Given the description of an element on the screen output the (x, y) to click on. 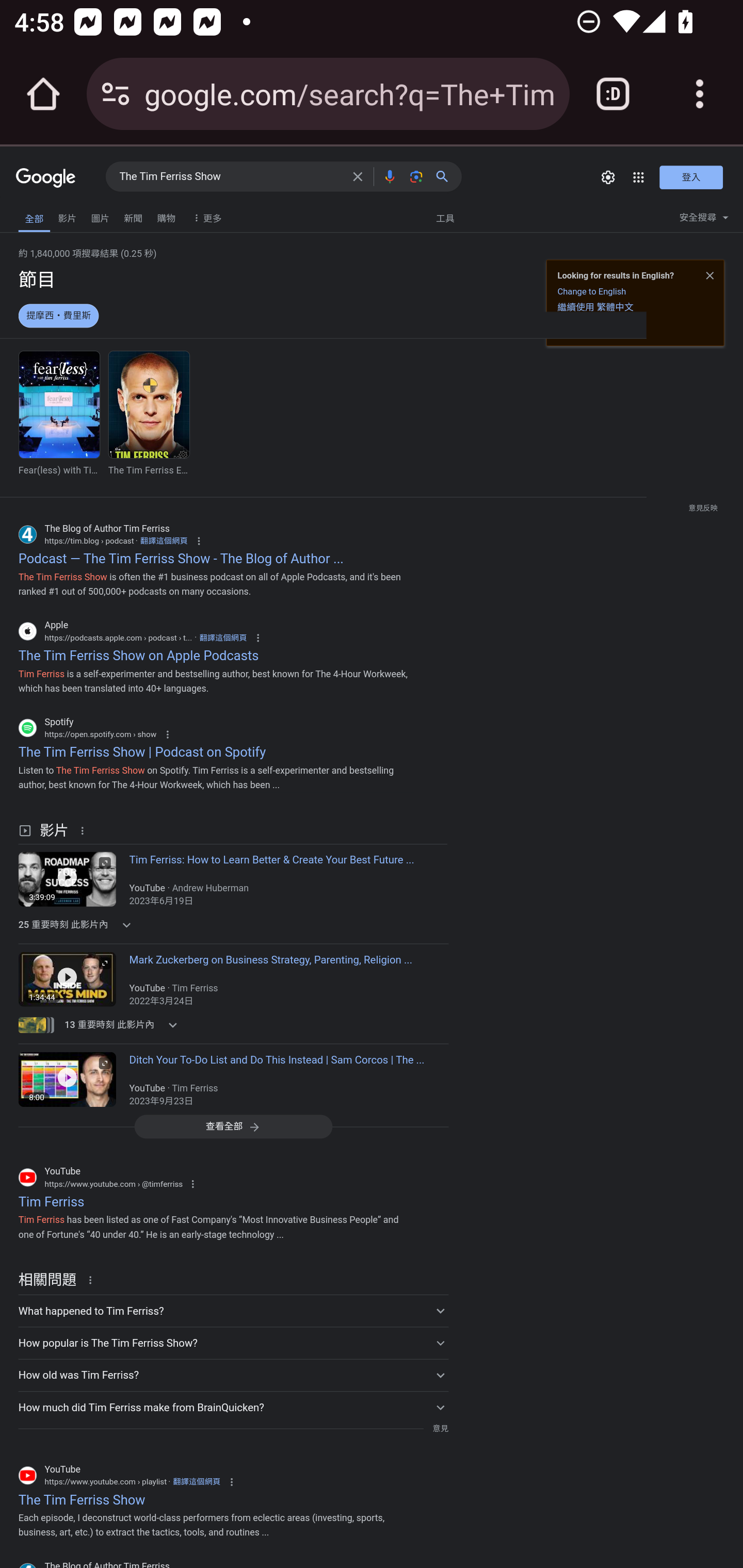
Open the home page (43, 93)
Connection is secure (115, 93)
Switch or close tabs (612, 93)
Customize and control Google Chrome (699, 93)
